Given the description of an element on the screen output the (x, y) to click on. 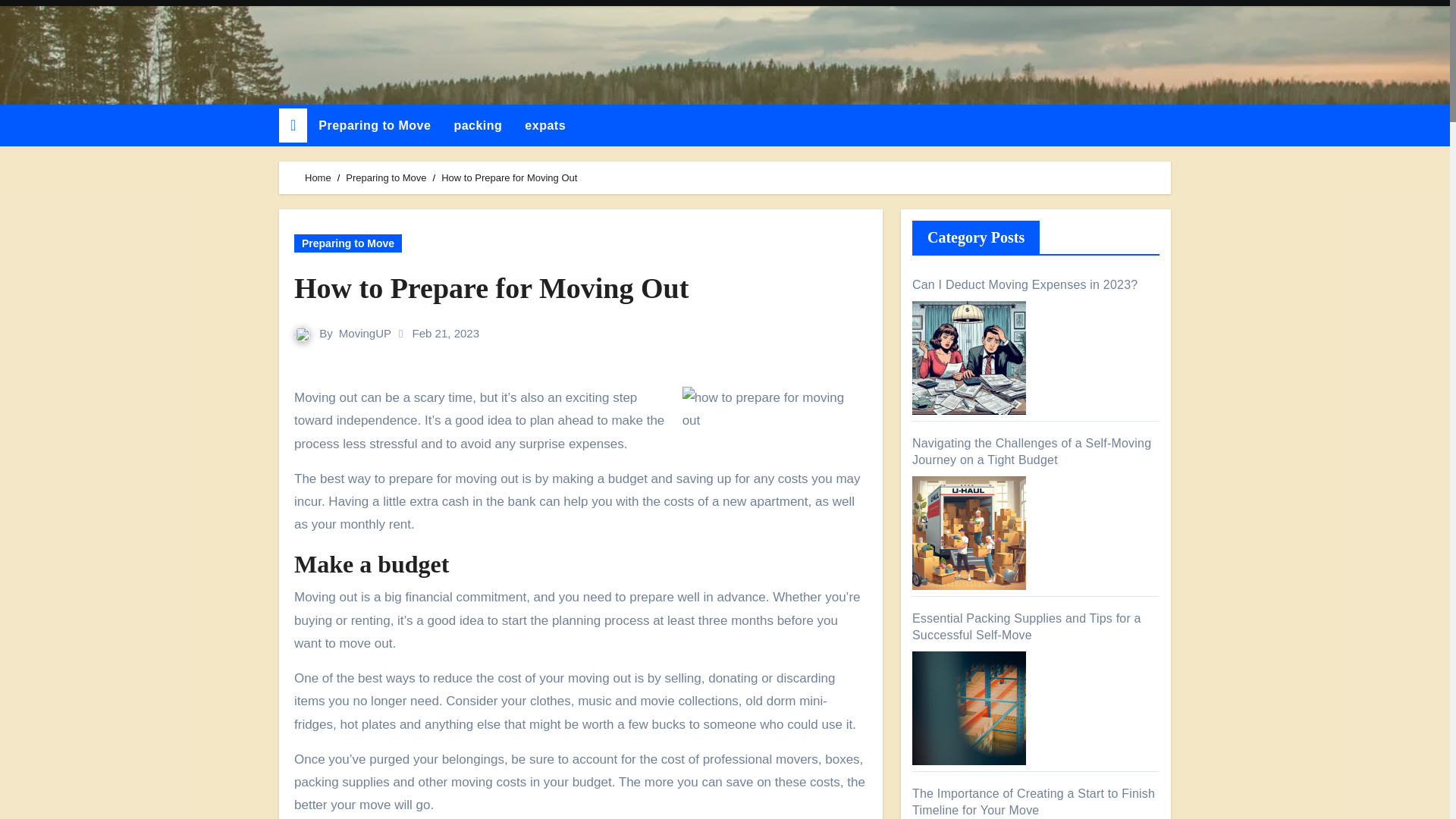
Feb 21, 2023 (445, 332)
Preparing to Move (347, 243)
How to Prepare for Moving Out (580, 288)
packing (477, 125)
expats (544, 125)
Preparing to Move (386, 177)
Preparing to Move (374, 125)
packing (477, 125)
Preparing to Move (374, 125)
expats (544, 125)
